Given the description of an element on the screen output the (x, y) to click on. 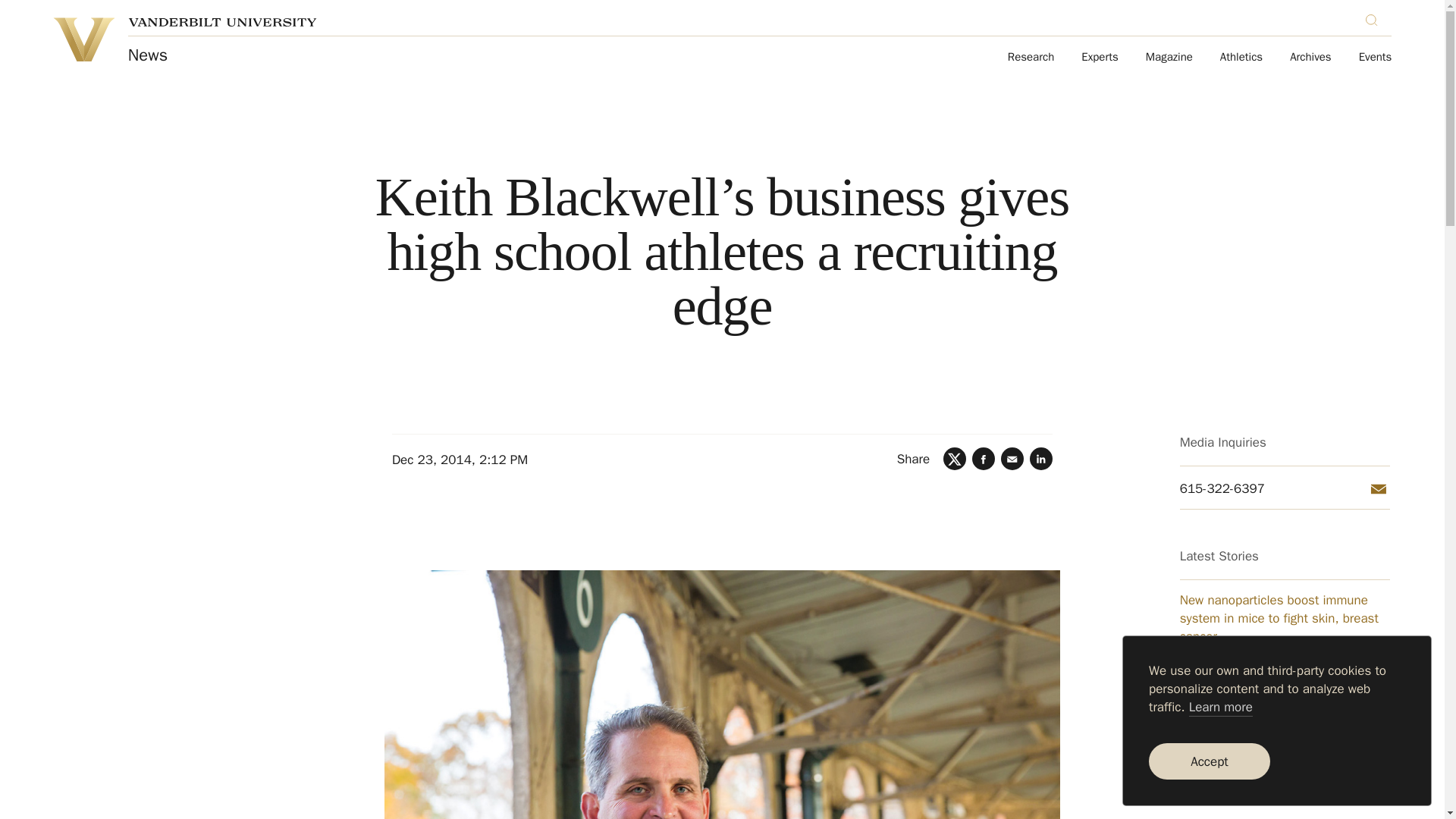
Email (1378, 488)
Athletics (1241, 57)
Twitter (954, 458)
Accept (1208, 760)
Learn more (1220, 707)
Vanderbilt University (83, 39)
Facebook (983, 458)
Research (1030, 57)
News (147, 55)
Experts (1099, 57)
Email (1012, 458)
Events (1374, 57)
Vanderbilt University (222, 21)
